Given the description of an element on the screen output the (x, y) to click on. 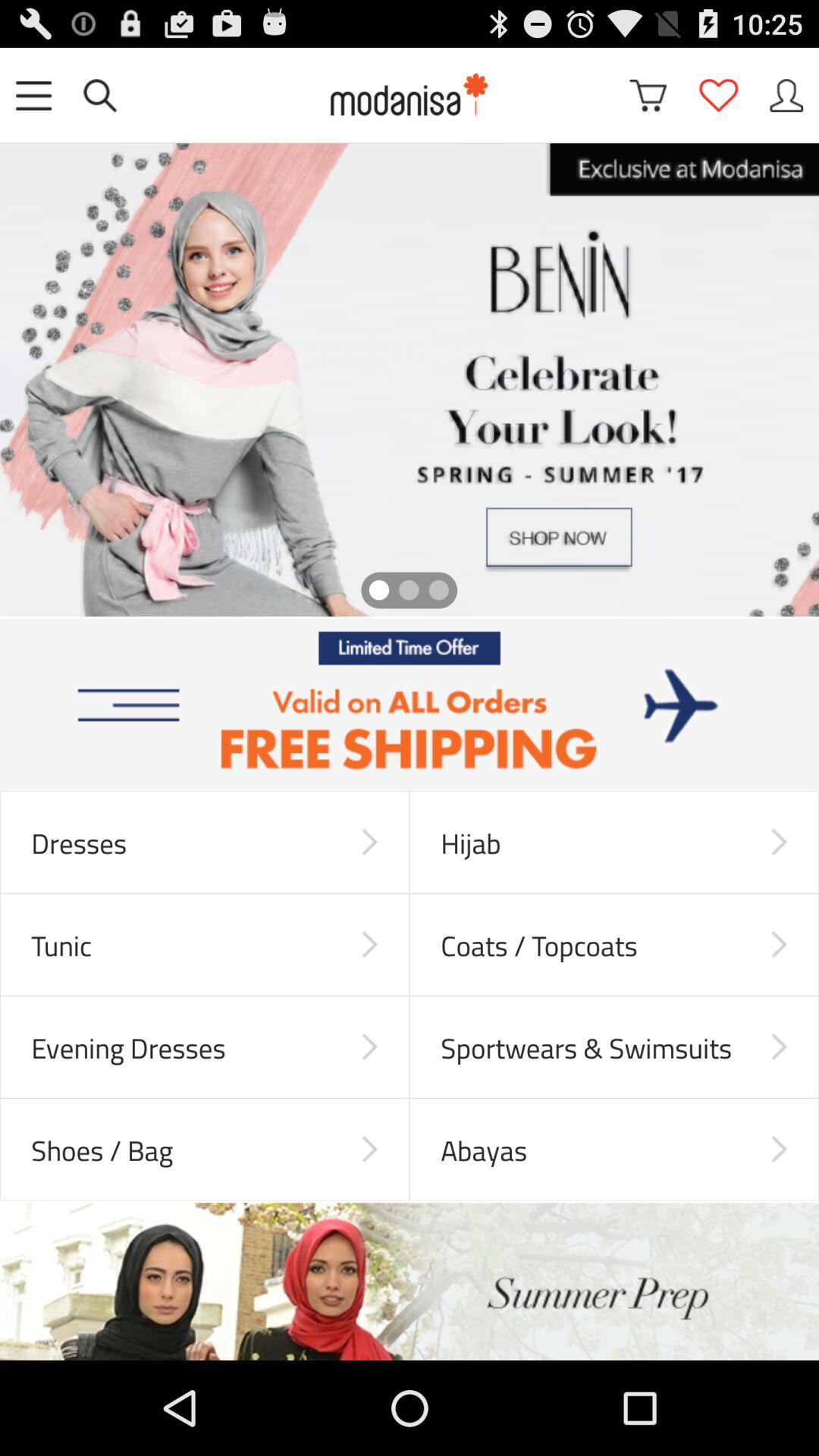
go to likes option (718, 95)
